Given the description of an element on the screen output the (x, y) to click on. 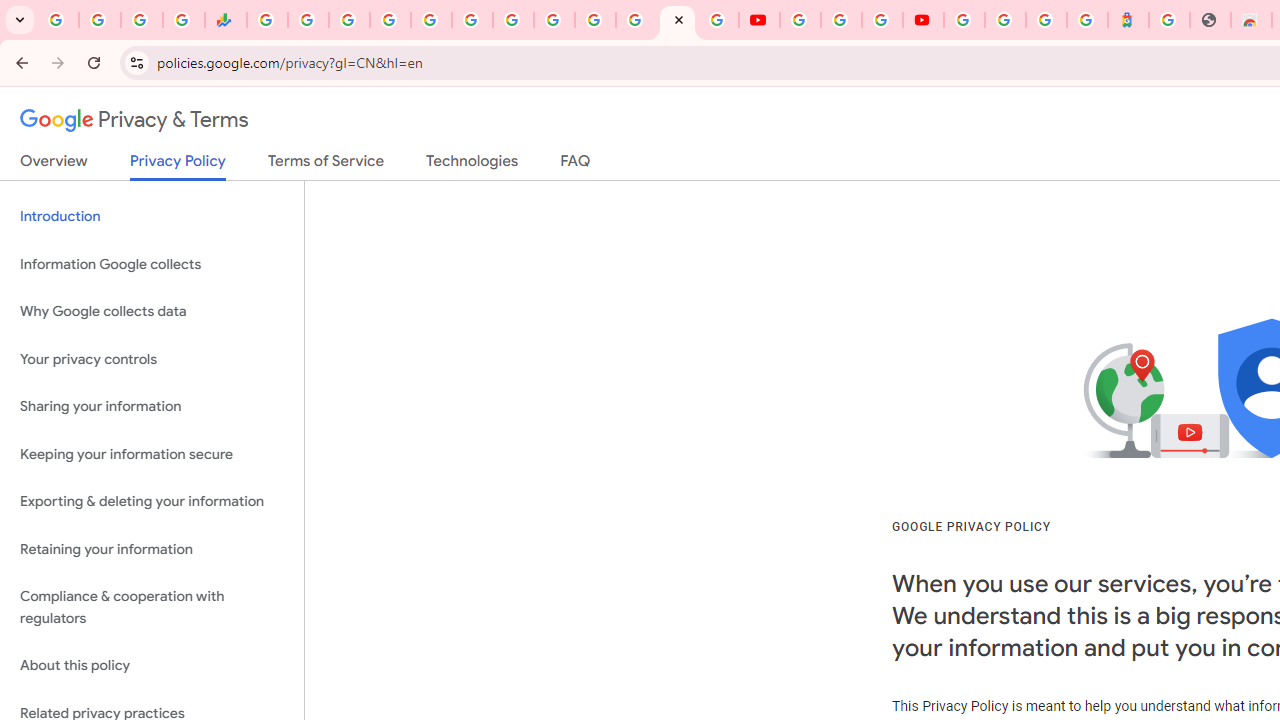
Your privacy controls (152, 358)
Sign in - Google Accounts (389, 20)
Sign in - Google Accounts (1005, 20)
Google Workspace Admin Community (58, 20)
Introduction (152, 216)
Google Account Help (840, 20)
